Given the description of an element on the screen output the (x, y) to click on. 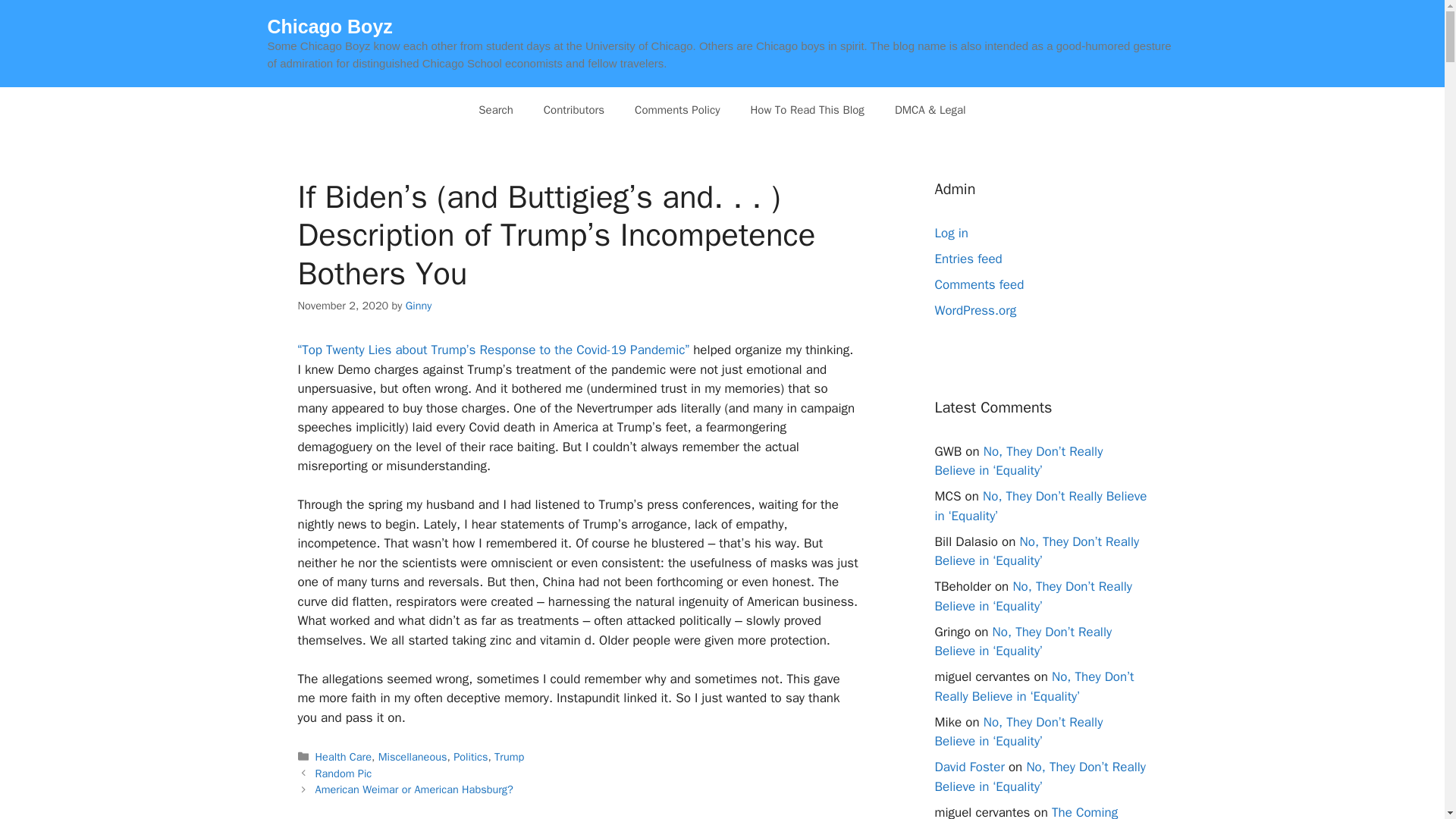
Comments Policy (677, 109)
View all posts by Ginny (419, 305)
Entries feed (967, 258)
American Weimar or American Habsburg? (414, 789)
Ginny (419, 305)
Contributors (574, 109)
Health Care (343, 756)
Comments feed (978, 284)
Chicago Boyz (328, 25)
Politics (469, 756)
